Given the description of an element on the screen output the (x, y) to click on. 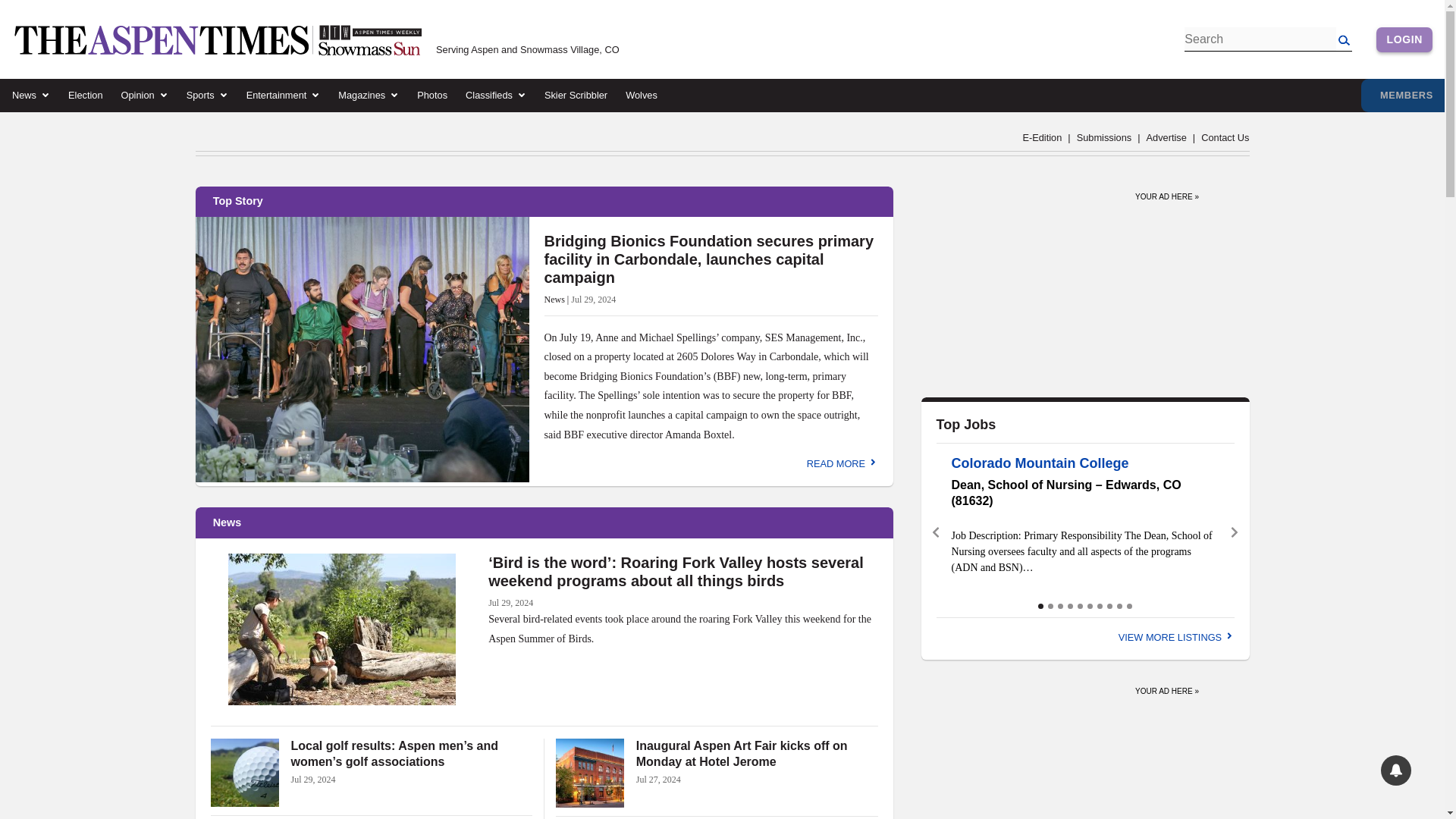
Your Ad Here (1166, 687)
News (23, 94)
Your Ad Here (1166, 192)
Entertainment (276, 94)
LOGIN (1403, 39)
Election (85, 94)
Sports (200, 94)
Opinion (137, 94)
